Given the description of an element on the screen output the (x, y) to click on. 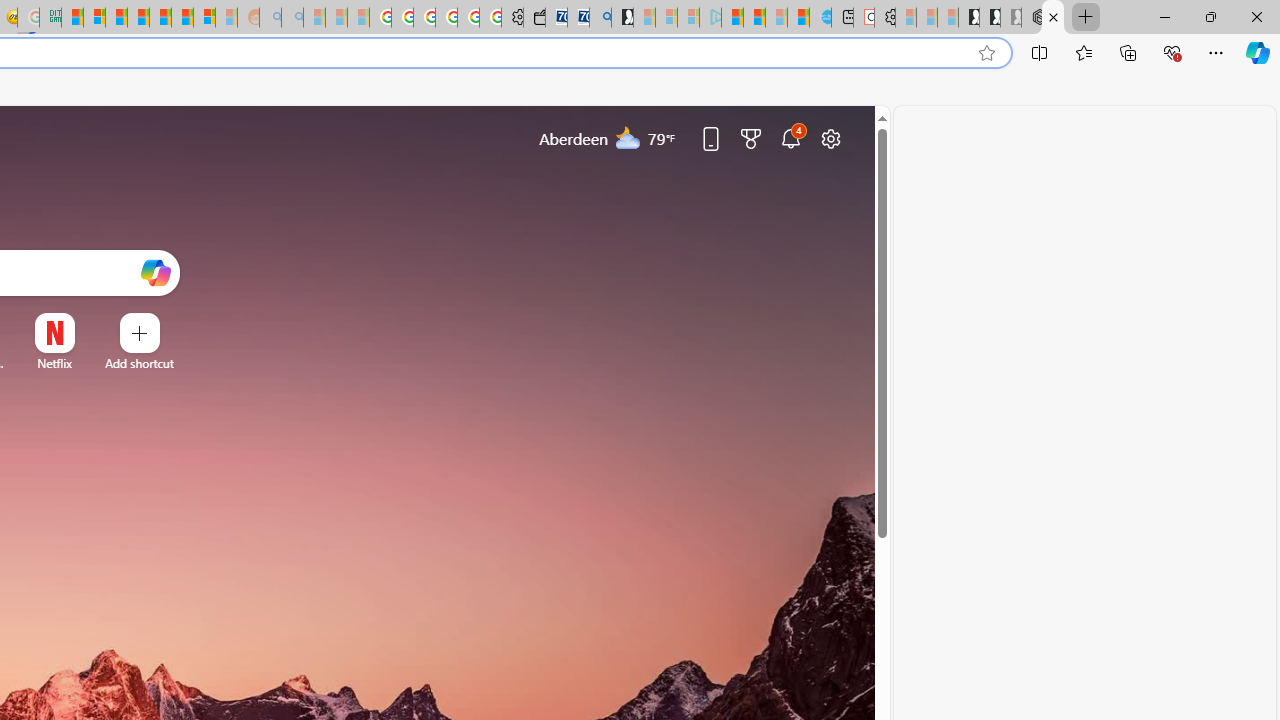
Play Free Online Games | Games from Microsoft Start (968, 17)
Microsoft account | Privacy - Sleeping (688, 17)
Home | Sky Blue Bikes - Sky Blue Bikes (820, 17)
Microsoft rewards (750, 138)
Microsoft Start Gaming (622, 17)
